Given the description of an element on the screen output the (x, y) to click on. 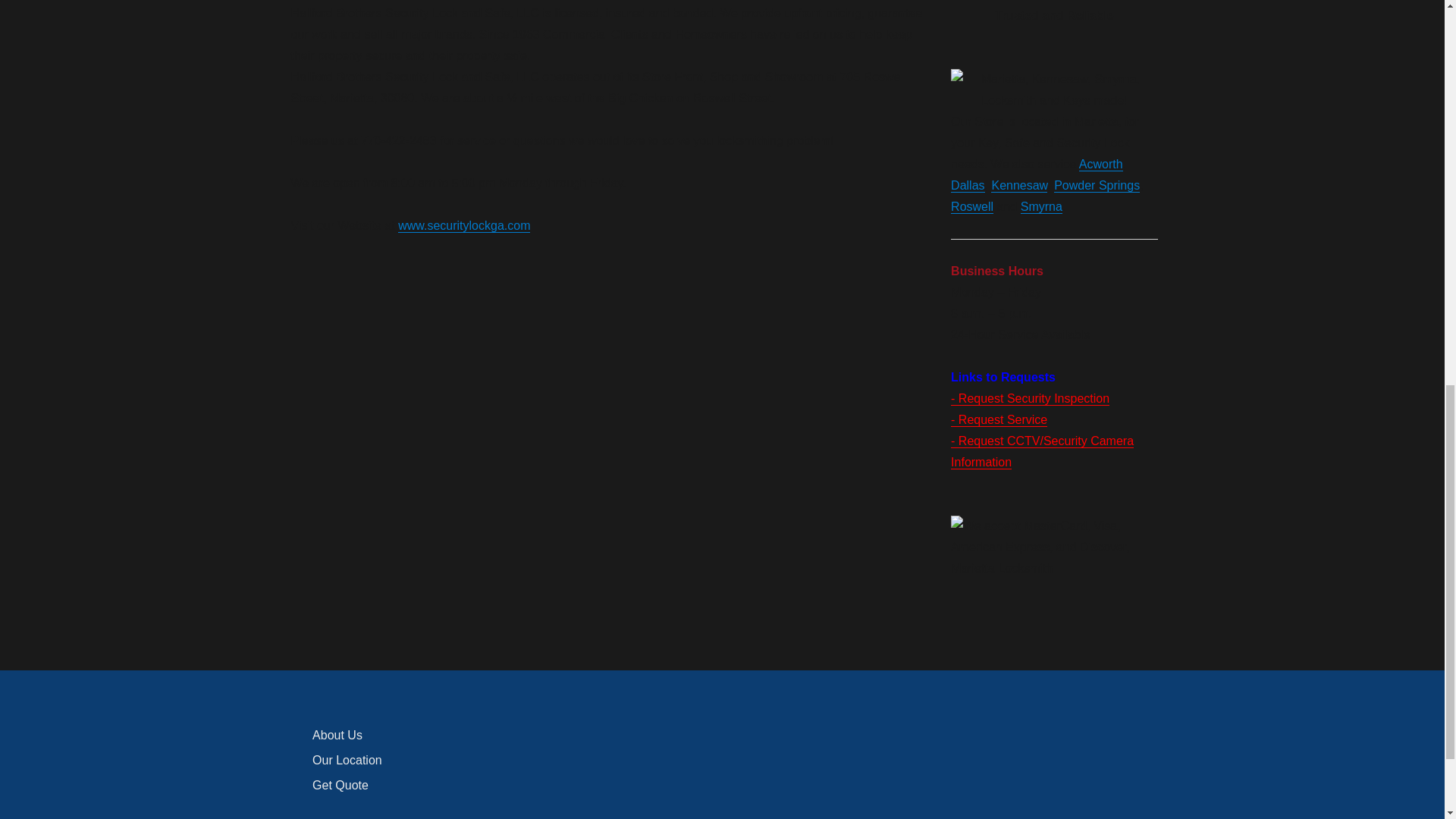
Powder Springs (1097, 185)
Dallas (967, 185)
- Request Service (998, 419)
Roswell (971, 205)
About Us (337, 735)
- Request Security Inspection (1029, 398)
Acworth (1100, 164)
www.securitylockga.com (463, 225)
Get Quote (340, 784)
Kennesaw (1018, 185)
